Given the description of an element on the screen output the (x, y) to click on. 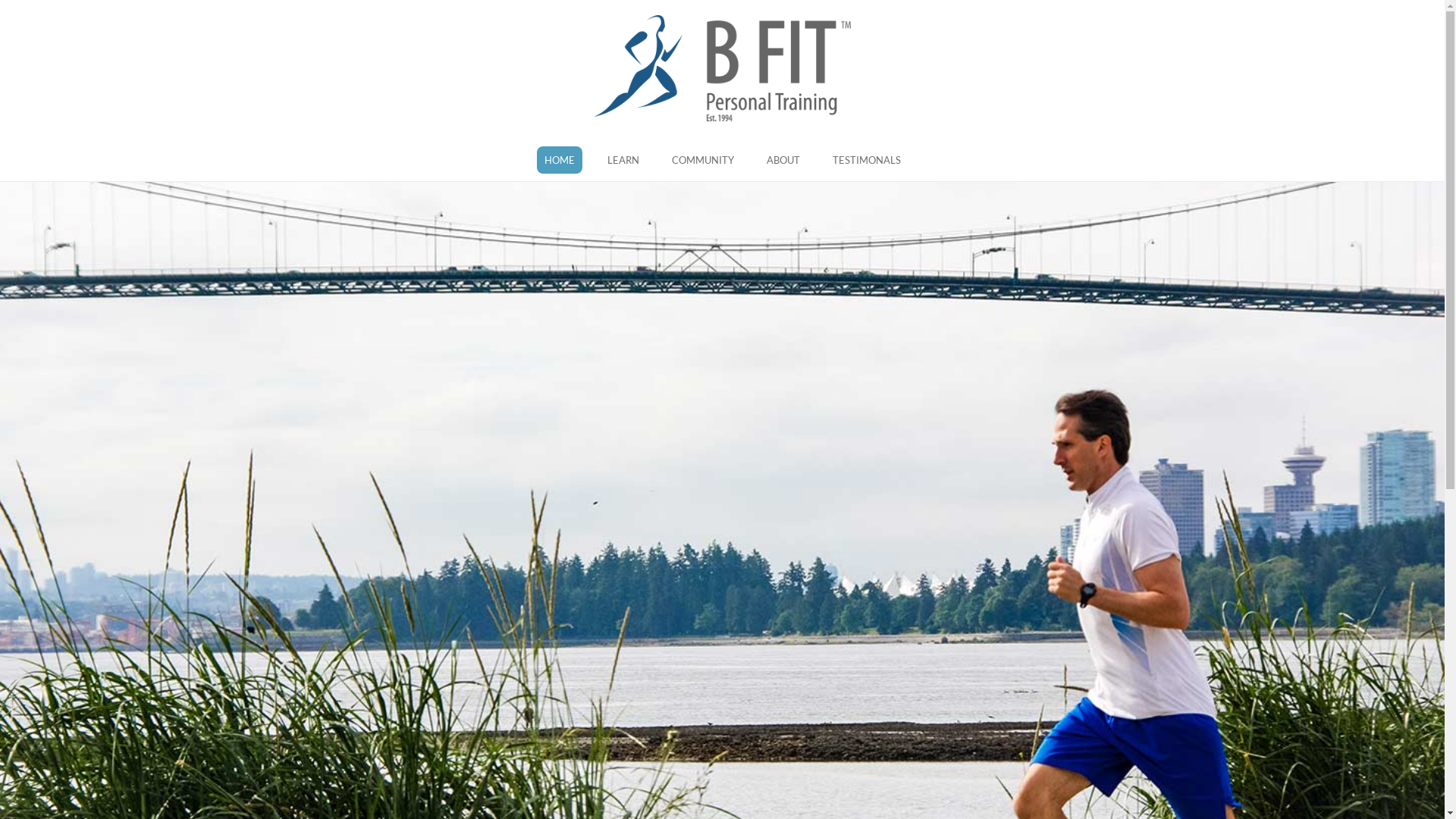
ABOUT Element type: text (782, 159)
HOME Element type: text (559, 159)
LEARN Element type: text (622, 159)
COMMUNITY Element type: text (702, 159)
TESTIMONALS Element type: text (866, 159)
